Given the description of an element on the screen output the (x, y) to click on. 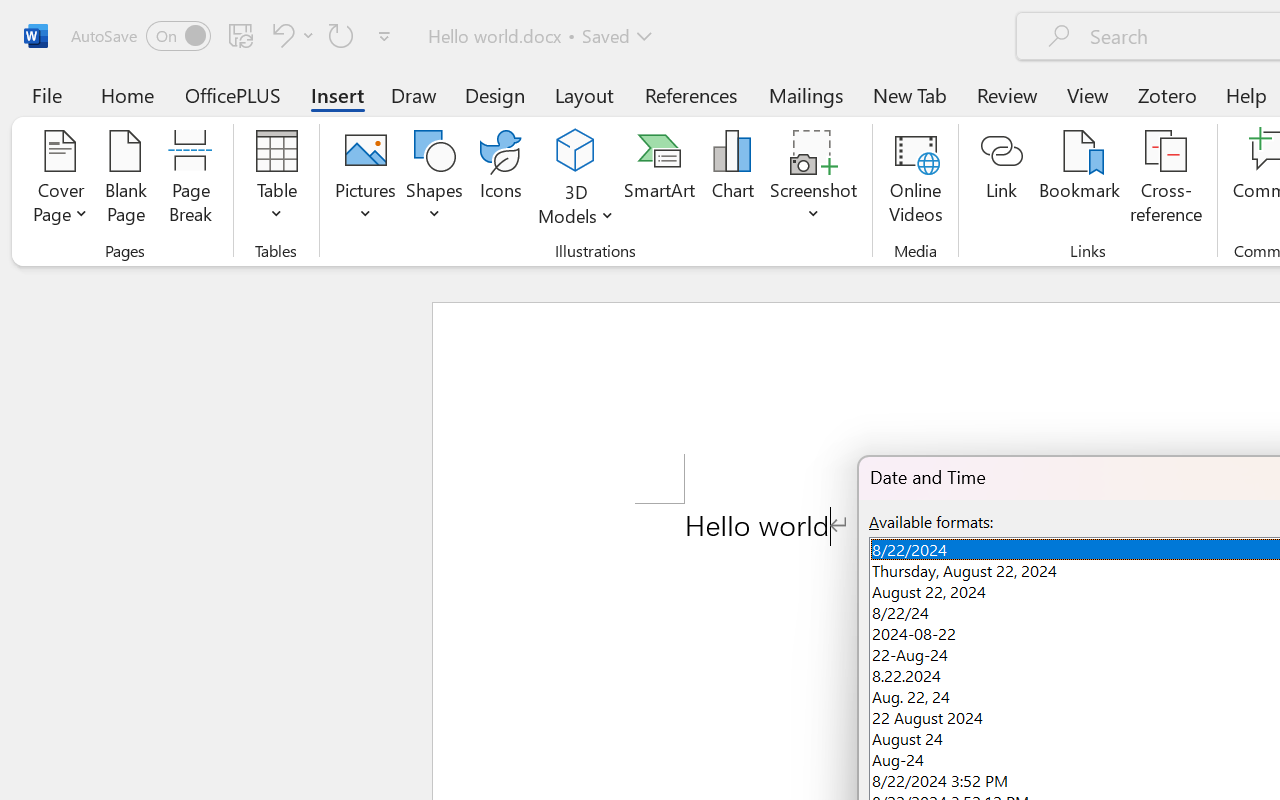
Online Videos... (915, 179)
Shapes (435, 179)
3D Models (576, 151)
Pictures (365, 179)
Quick Access Toolbar (233, 36)
Mailings (806, 94)
Layout (584, 94)
Link (1001, 179)
Review (1007, 94)
Bookmark... (1079, 179)
New Tab (909, 94)
SmartArt... (659, 179)
Zotero (1166, 94)
Insert (337, 94)
